Given the description of an element on the screen output the (x, y) to click on. 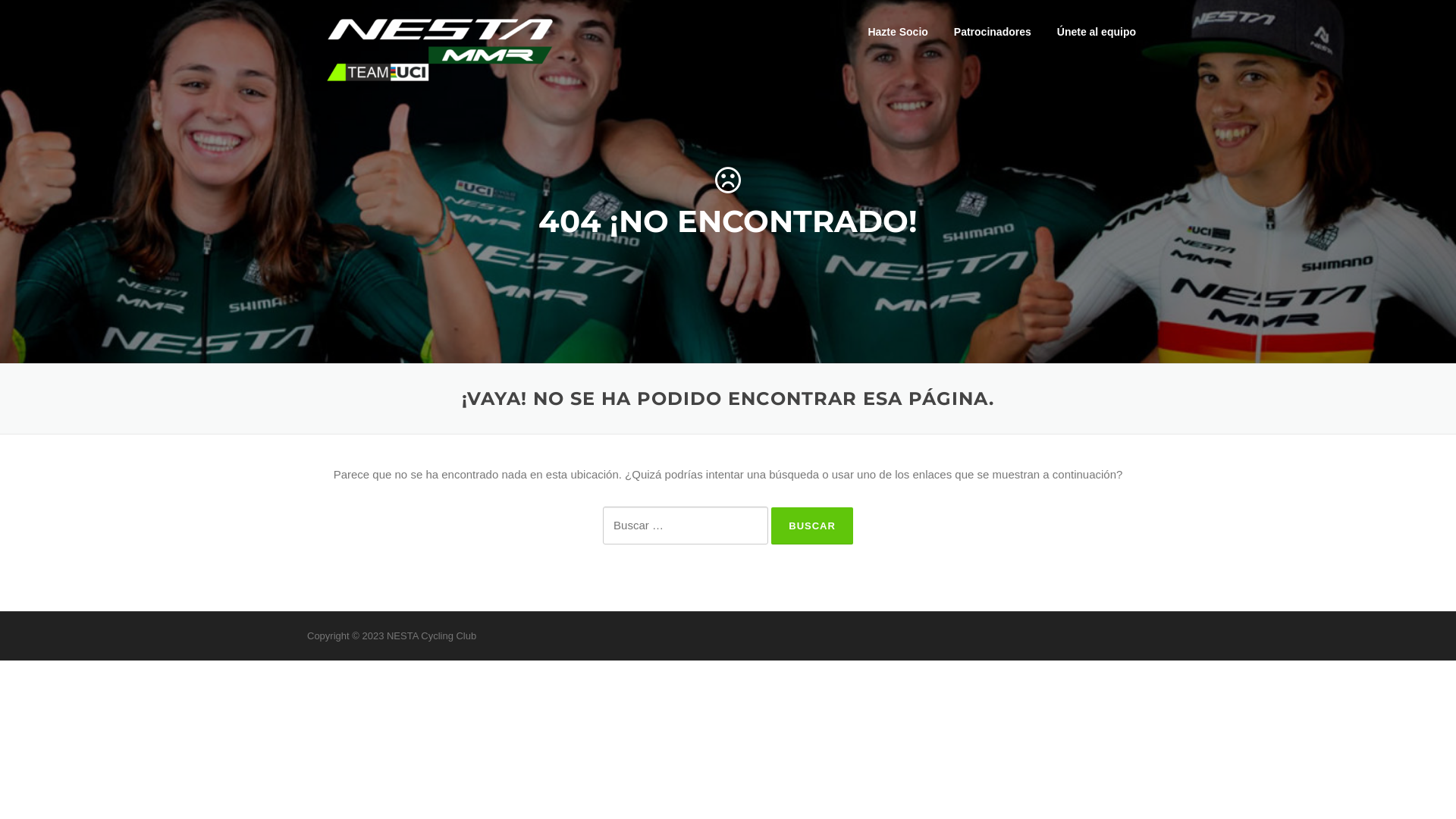
Buscar Element type: text (812, 525)
Patrocinadores Element type: text (992, 32)
Hazte Socio Element type: text (897, 32)
